Given the description of an element on the screen output the (x, y) to click on. 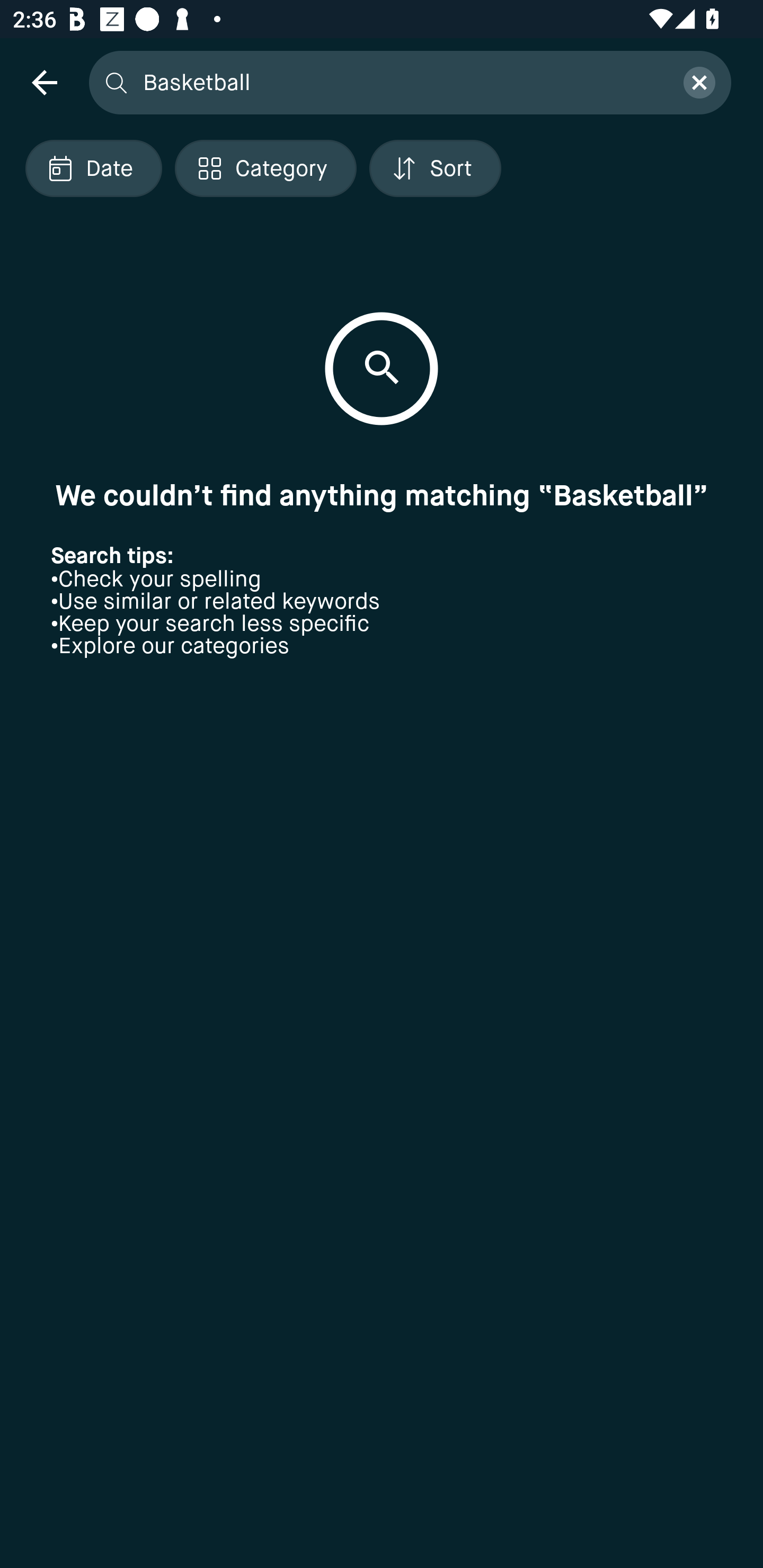
navigation icon (44, 81)
Basketball (402, 81)
Localized description Date (93, 168)
Localized description Category (265, 168)
Localized description Sort (435, 168)
We couldn’t find anything matching “Basketball” (381, 495)
